Given the description of an element on the screen output the (x, y) to click on. 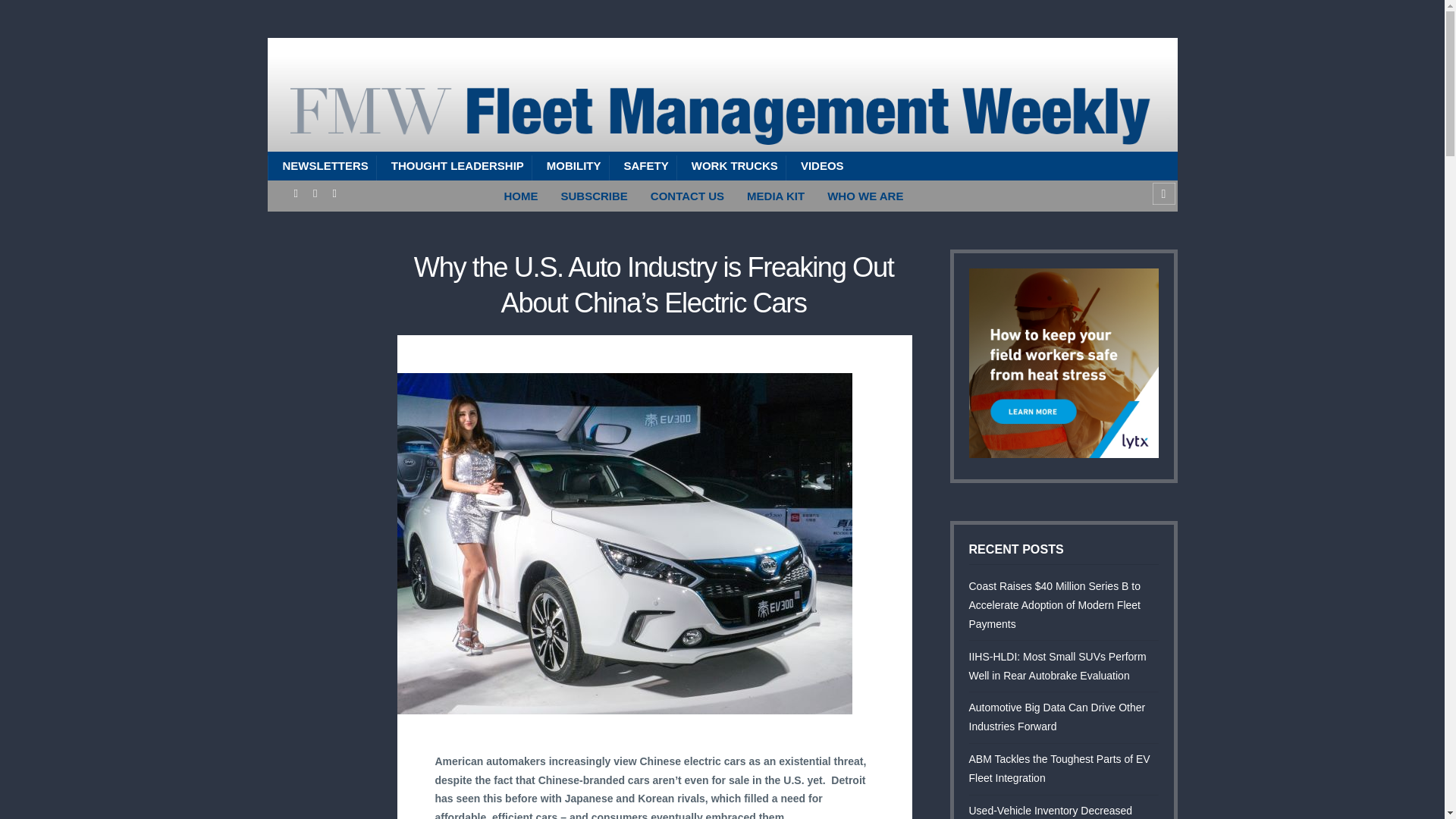
NEWSLETTERS (320, 165)
SUBSCRIBE (593, 195)
THOUGHT LEADERSHIP (453, 165)
WHO WE ARE (864, 195)
SAFETY (642, 165)
Automotive Big Data Can Drive Other Industries Forward (1057, 716)
VIDEOS (818, 165)
ABM Tackles the Toughest Parts of EV Fleet Integration (1059, 767)
CONTACT US (687, 195)
WORK TRUCKS (731, 165)
MEDIA KIT (775, 195)
HOME (521, 195)
MOBILITY (569, 165)
